Given the description of an element on the screen output the (x, y) to click on. 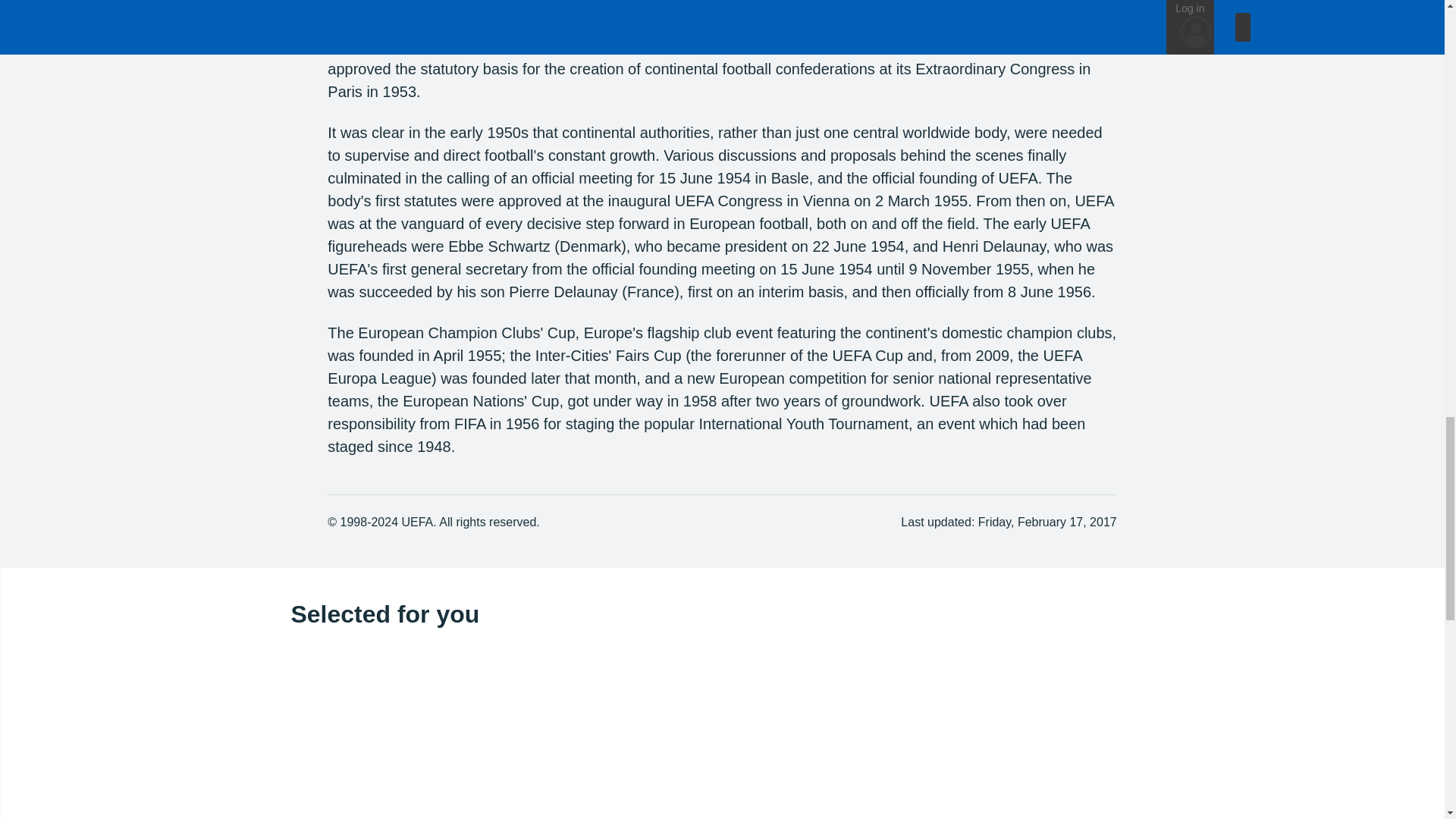
Fair play and Respect (499, 732)
Fair play and Respect (499, 732)
Fair play and Respect (500, 738)
